Given the description of an element on the screen output the (x, y) to click on. 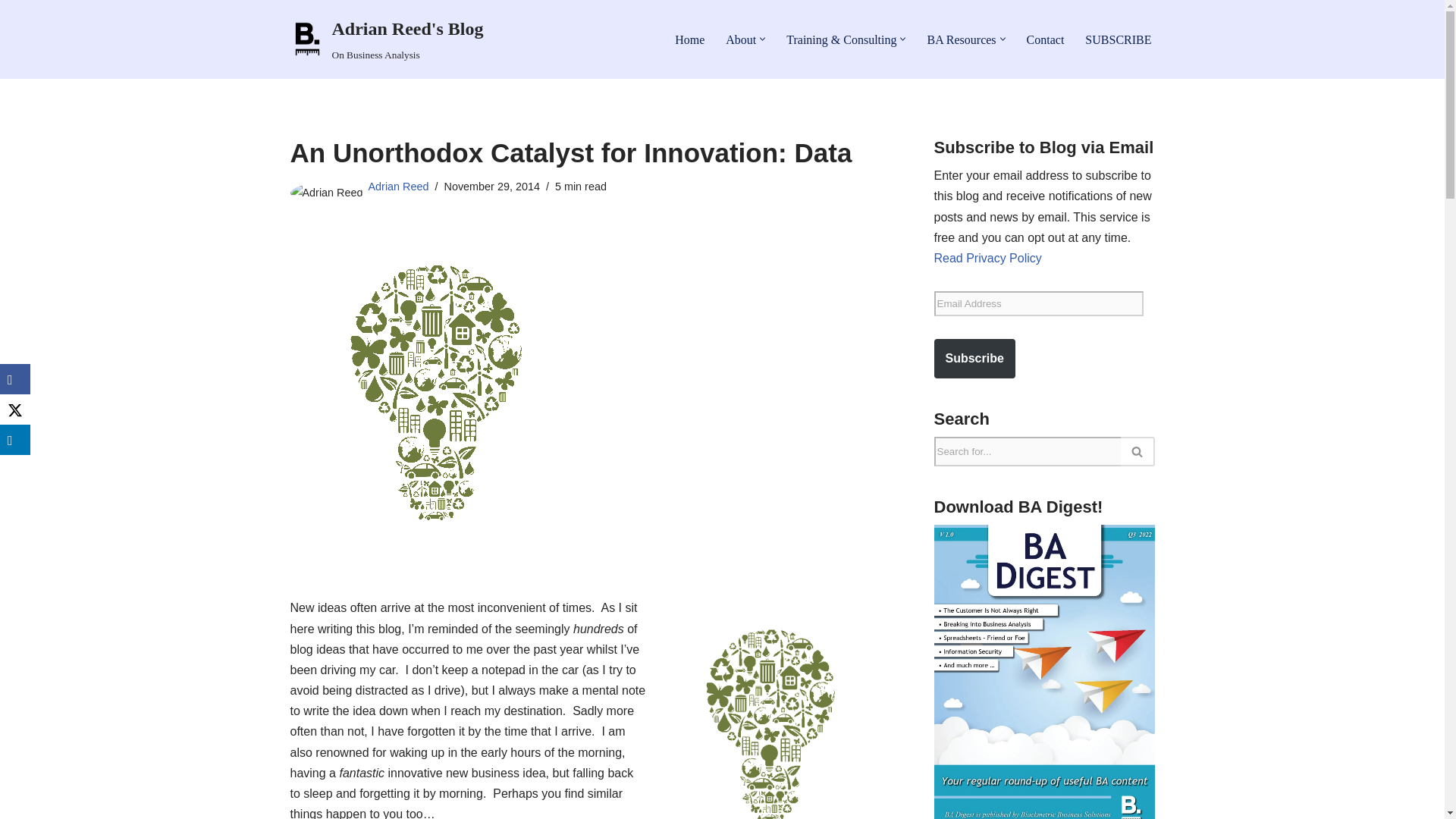
Posts by Adrian Reed (398, 186)
BA Resources (960, 39)
Skip to content (11, 31)
Home (689, 39)
SUBSCRIBE (1117, 39)
Contact (1045, 39)
About (740, 39)
